Given the description of an element on the screen output the (x, y) to click on. 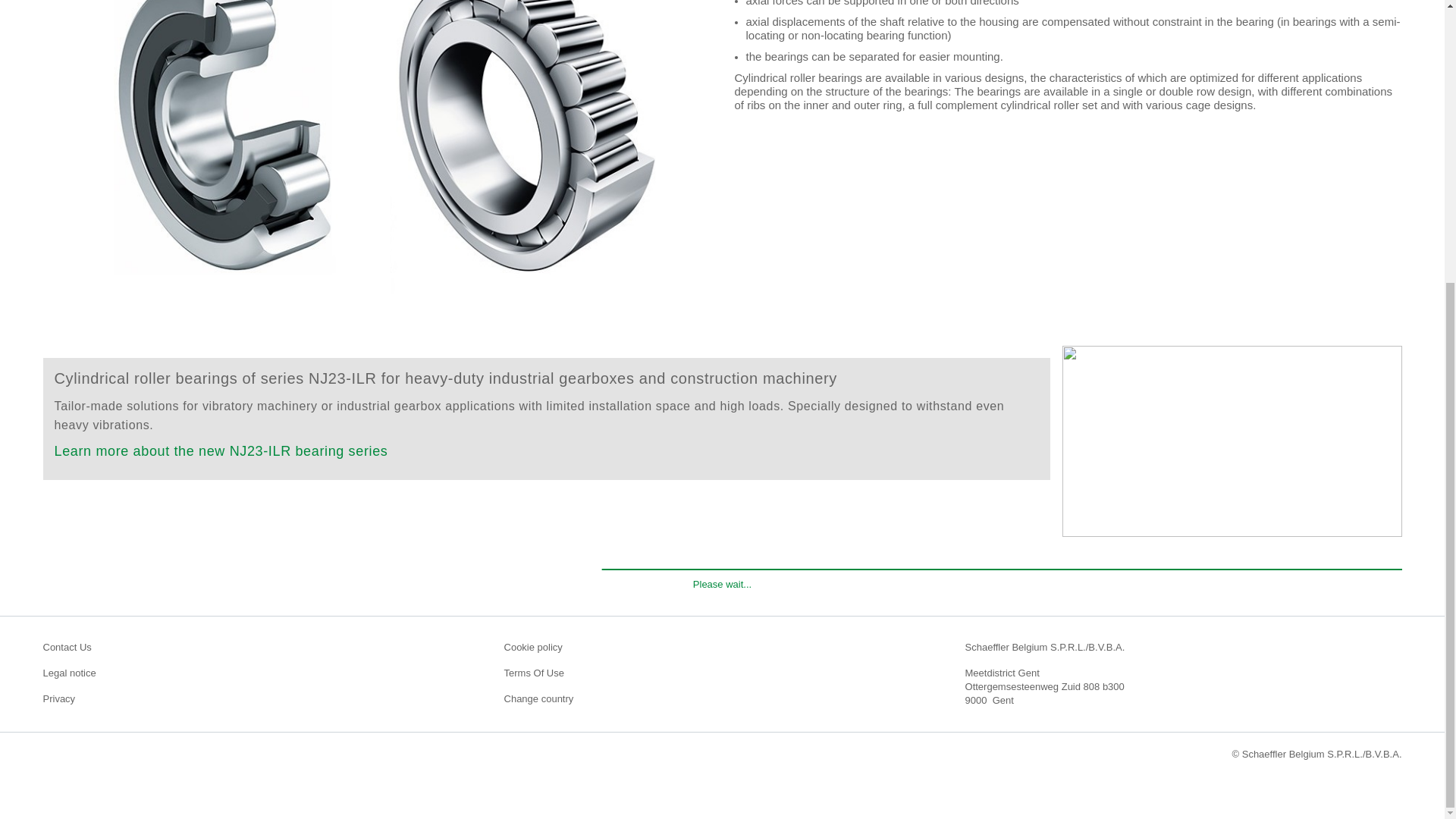
Change country (721, 698)
Cookie policy (721, 647)
Contact Us (260, 647)
Privacy (260, 698)
Learn more about the new NJ23-ILR bearing series (221, 450)
Terms Of Use (721, 673)
Legal notice (260, 673)
